Given the description of an element on the screen output the (x, y) to click on. 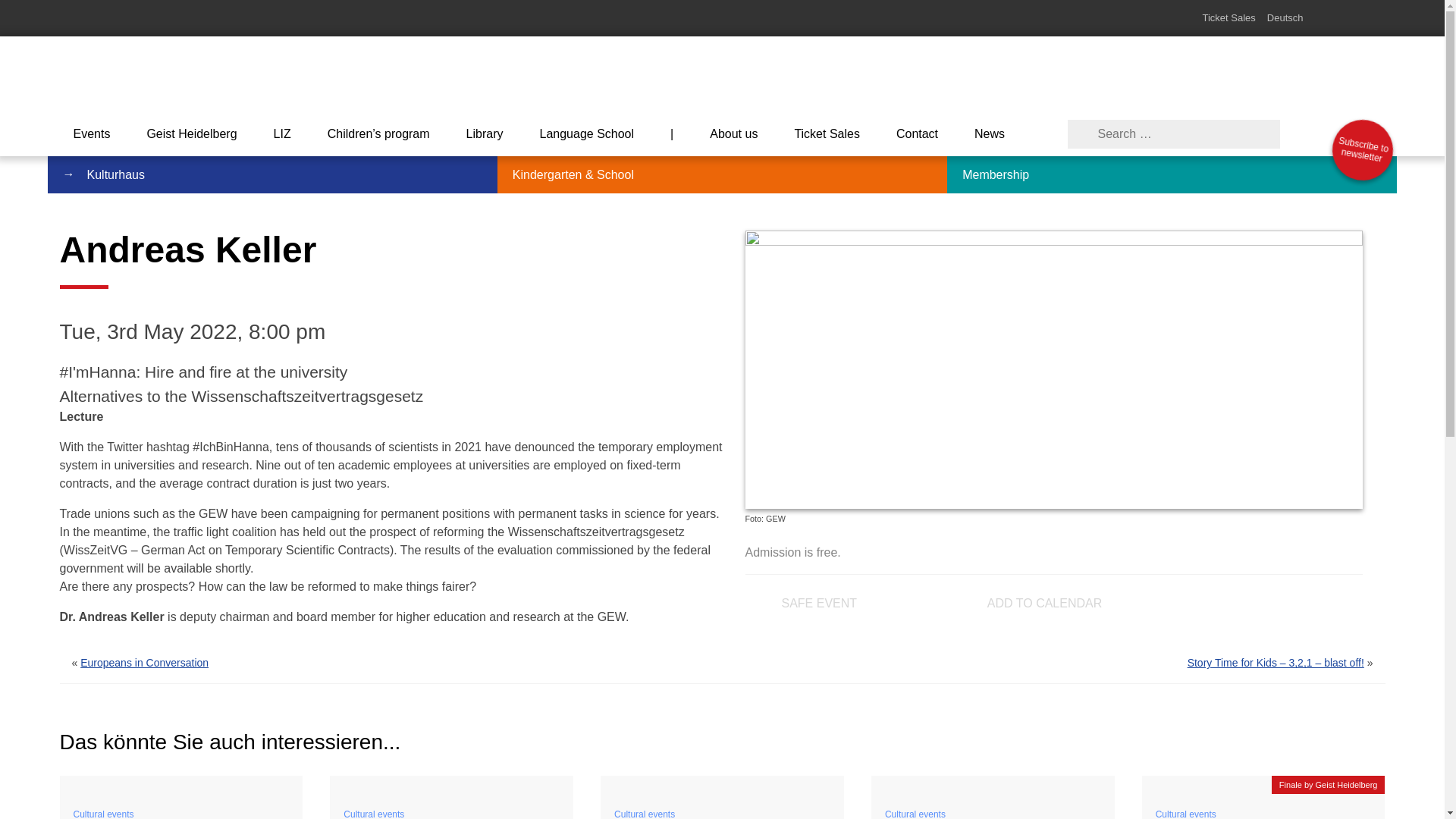
Read more (451, 784)
Library (484, 133)
Contact (916, 133)
Read more (992, 784)
Search (29, 12)
Read more (180, 784)
Events (91, 133)
Language School (586, 133)
Read more (1263, 784)
LIZ (282, 133)
